Given the description of an element on the screen output the (x, y) to click on. 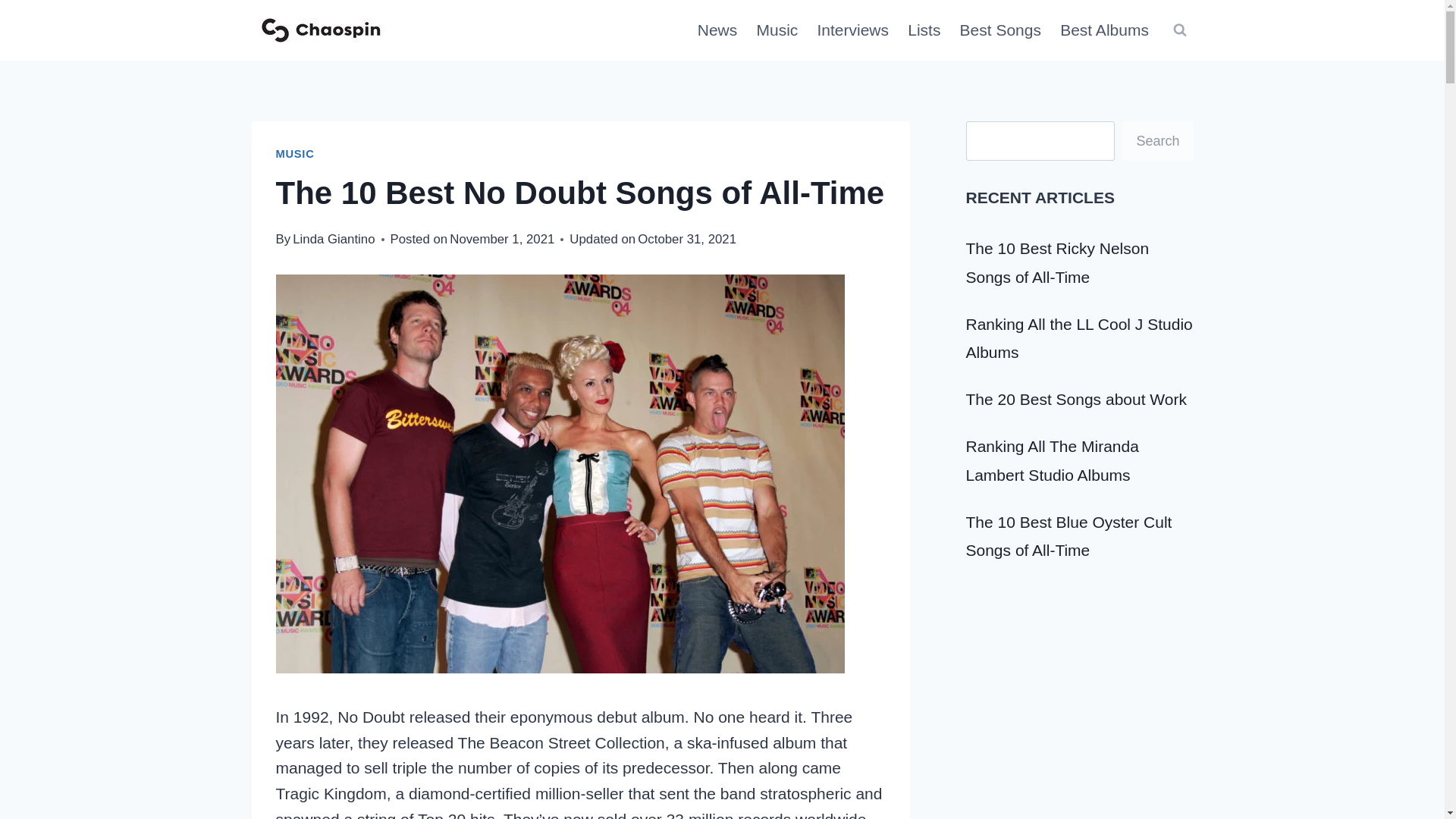
Linda Giantino (333, 238)
News (716, 30)
Lists (924, 30)
Best Songs (1000, 30)
MUSIC (295, 153)
Music (777, 30)
Best Albums (1104, 30)
Interviews (853, 30)
